Given the description of an element on the screen output the (x, y) to click on. 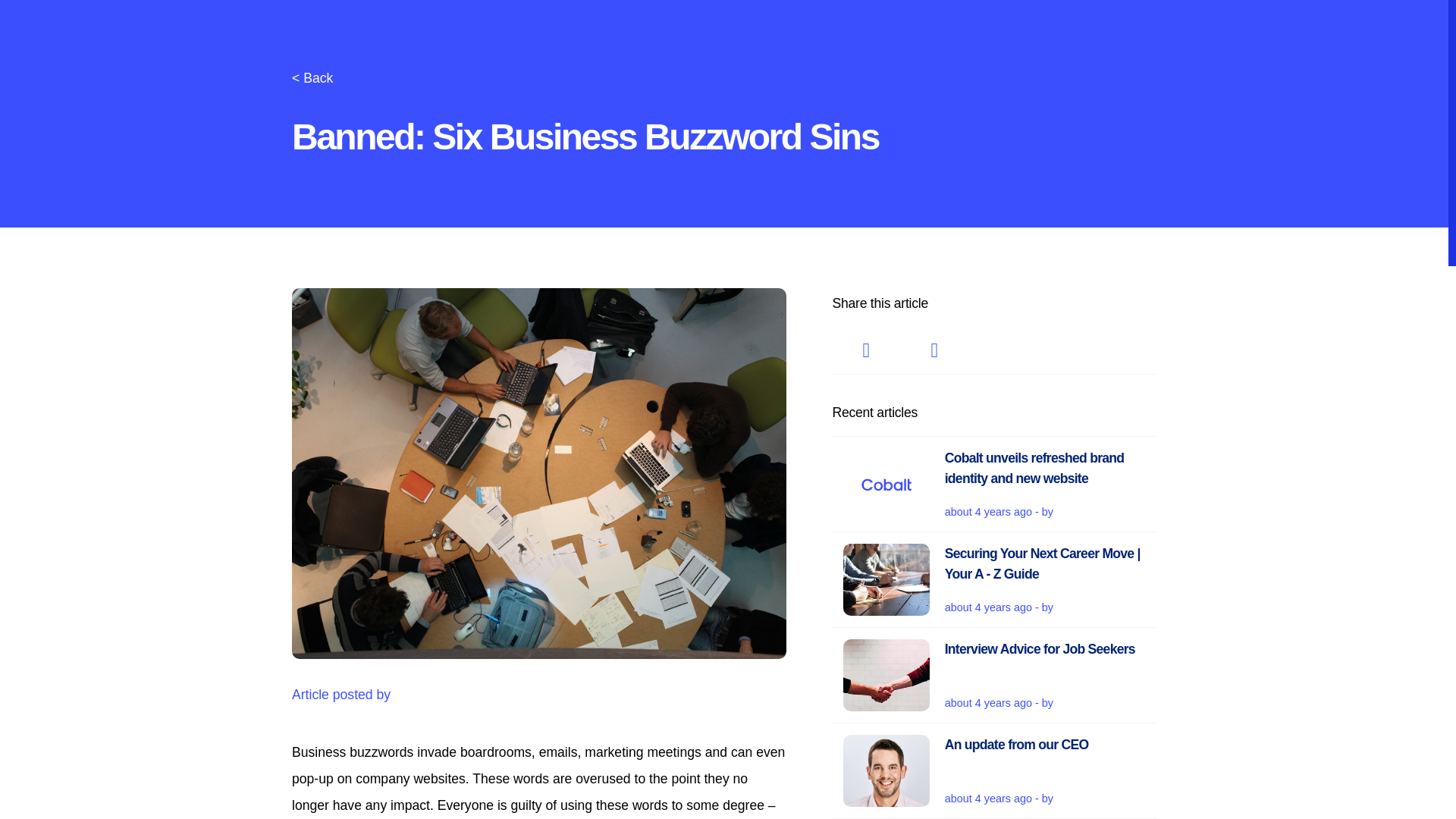
Facebook (993, 770)
Email (993, 675)
